Given the description of an element on the screen output the (x, y) to click on. 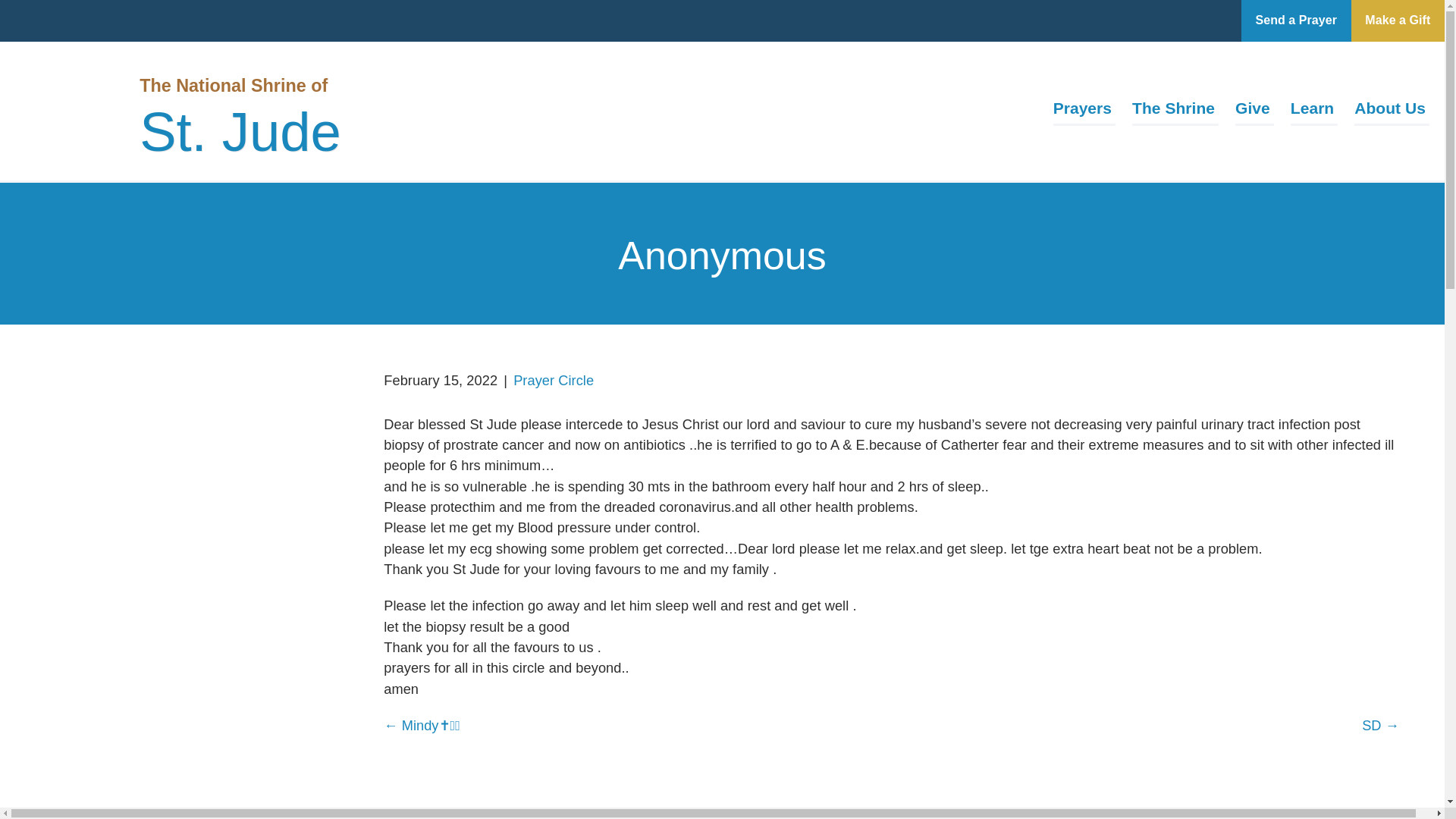
St. Jude (239, 136)
Make a Gift (1397, 20)
Prayers (1083, 111)
The National Shrine of (233, 84)
Learn (1314, 111)
Send a Prayer (1296, 20)
Give (1254, 111)
The Shrine (1175, 111)
